Given the description of an element on the screen output the (x, y) to click on. 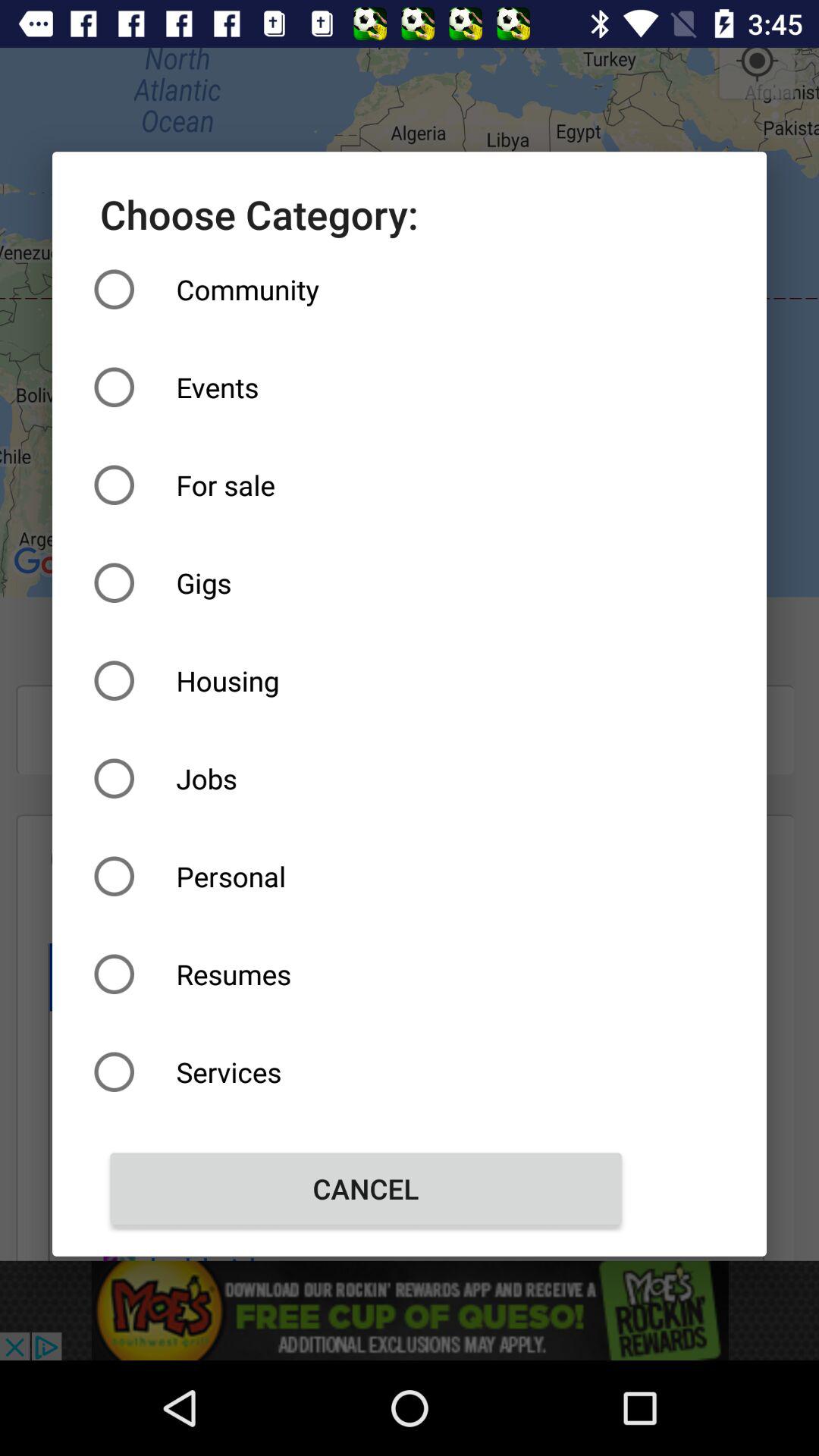
launch icon above the events item (365, 289)
